Given the description of an element on the screen output the (x, y) to click on. 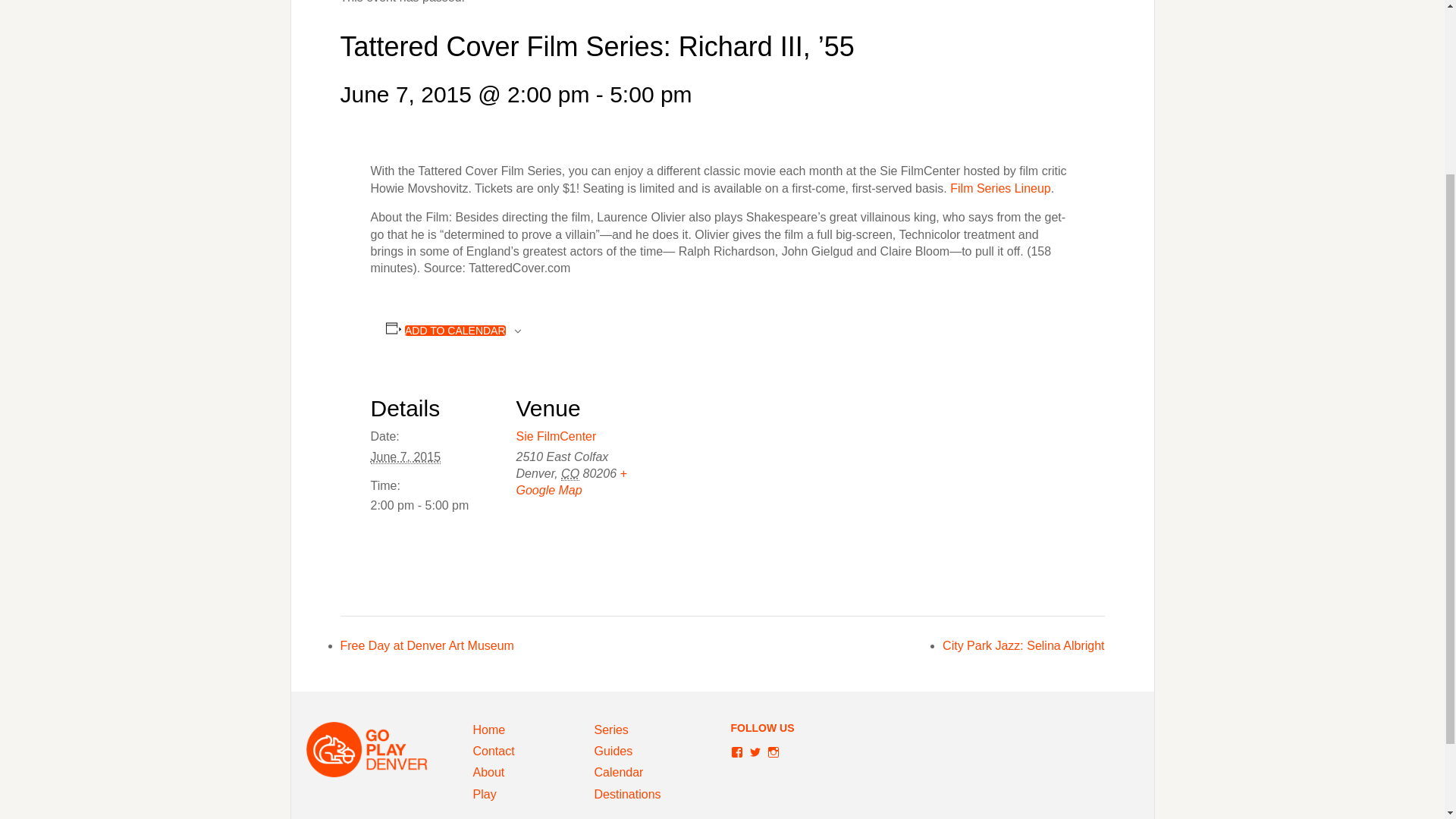
ADD TO CALENDAR (454, 330)
Colorado (569, 473)
About (489, 771)
Tattered Cover Film Series (1000, 187)
City Park Jazz: Selina Albright (1022, 645)
Sie FilmCenter (555, 436)
Series (611, 729)
Play (484, 793)
Click to view a Google Map (570, 481)
Home (489, 729)
Guides (613, 750)
Destinations (627, 793)
Film Series Lineup (1000, 187)
2015-06-07 (433, 505)
2015-06-07 (405, 457)
